Given the description of an element on the screen output the (x, y) to click on. 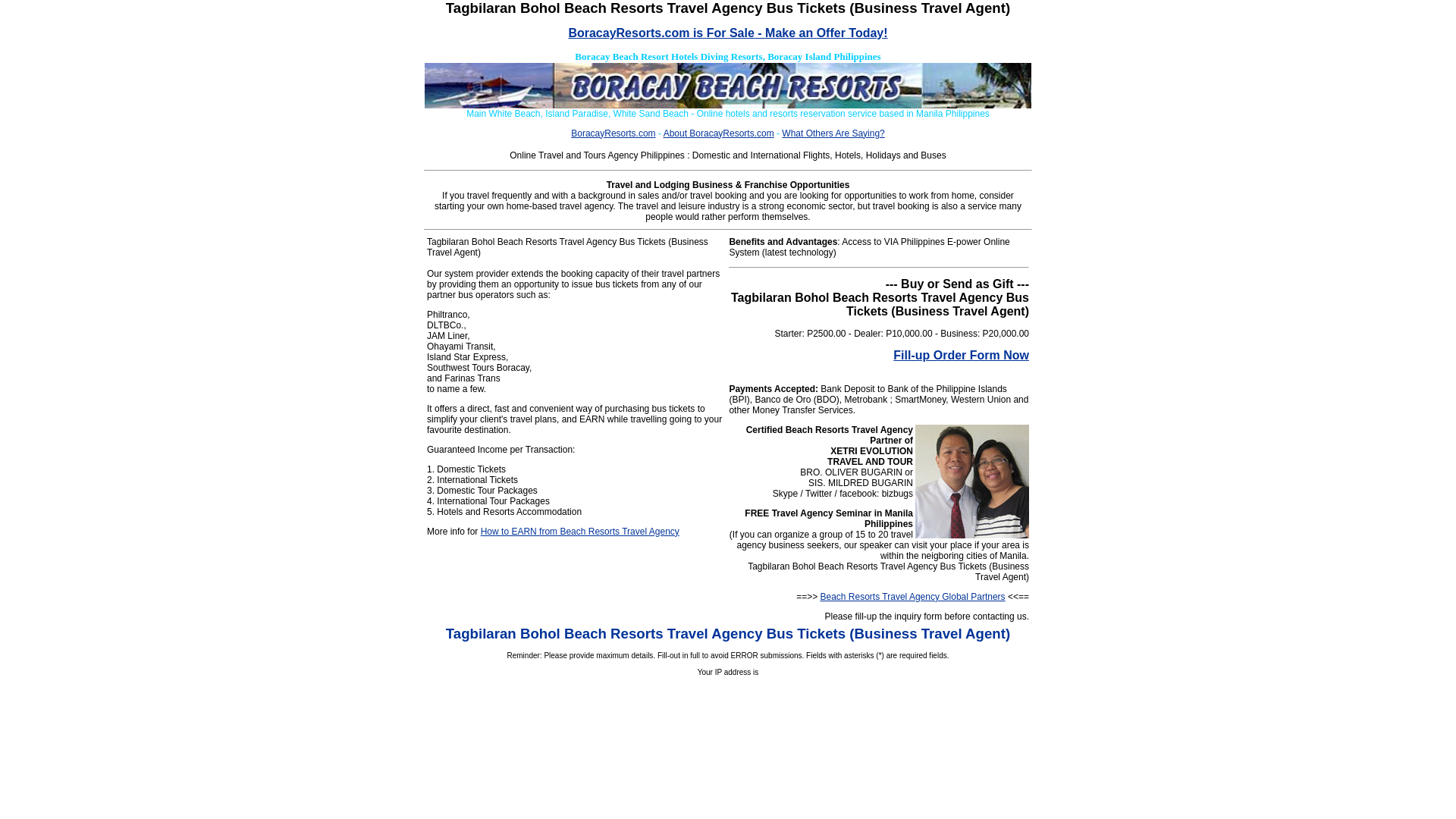
What Others Are Saying? (832, 132)
About BoracayResorts.com (718, 132)
BoracayResorts.com (612, 132)
Beach Resorts Travel Agency Global Partners (913, 596)
Fill-up Order Form Now (961, 354)
BoracayResorts.com is For Sale - Make an Offer Today! (726, 32)
How to EARN from Beach Resorts Travel Agency (579, 531)
